Given the description of an element on the screen output the (x, y) to click on. 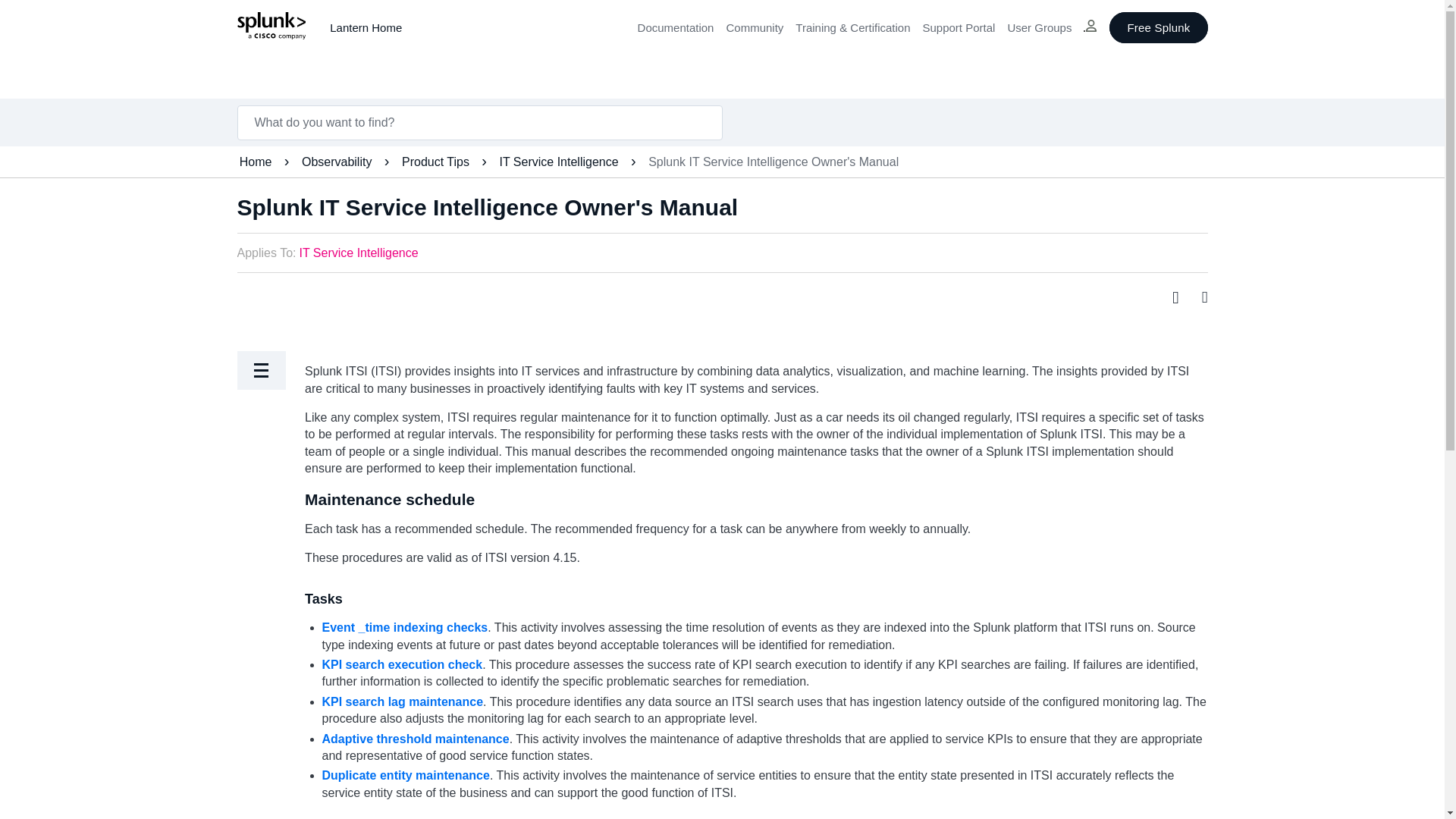
Free Splunk (1158, 27)
Community (754, 27)
Home (257, 161)
Product Tips (436, 161)
Support Portal (957, 27)
Lantern Home (365, 27)
IT Service Intelligence (560, 161)
IT Service Intelligence (357, 252)
Observability (338, 161)
Documentation (675, 27)
